Given the description of an element on the screen output the (x, y) to click on. 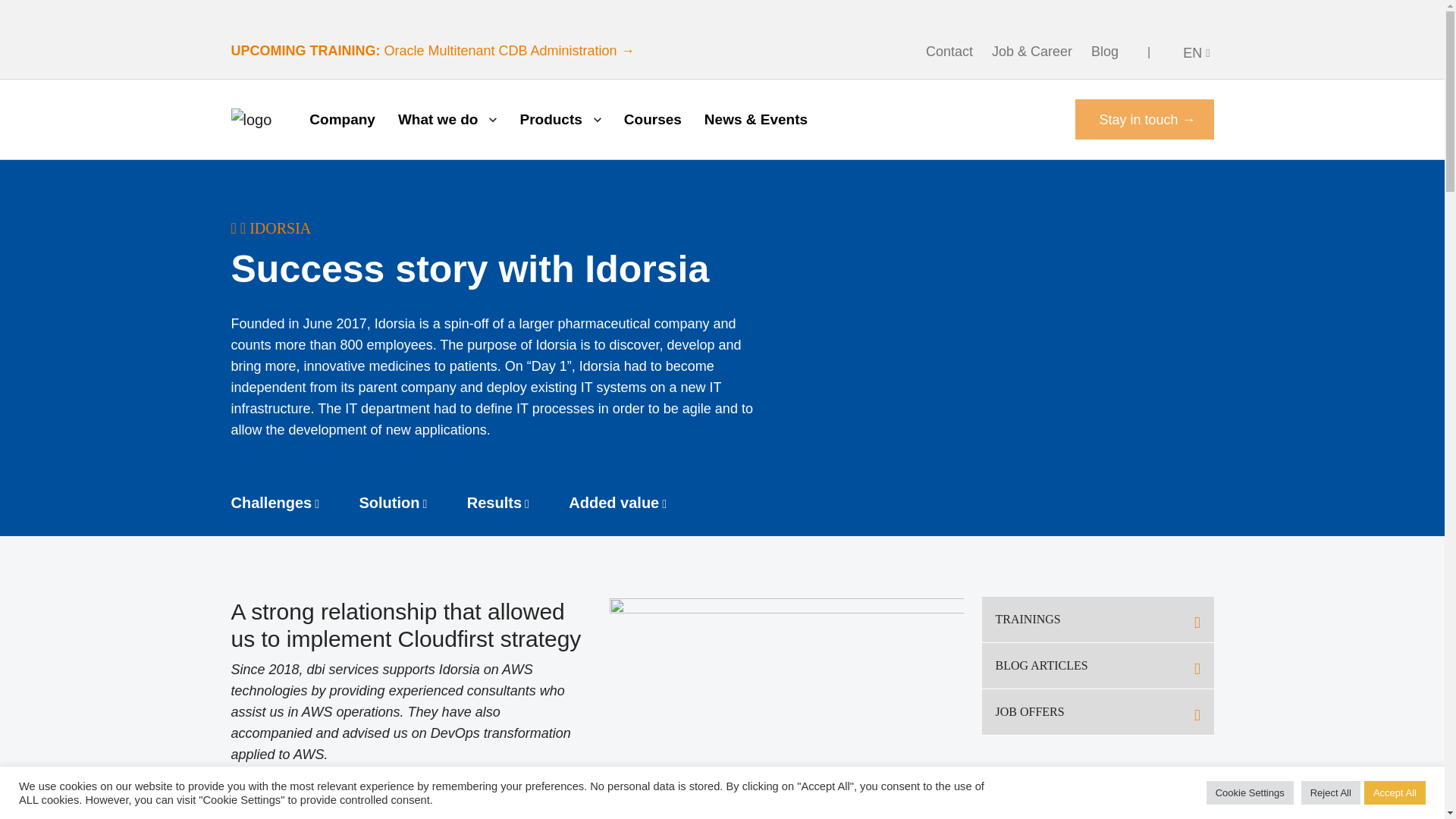
Courses (652, 119)
Stay in touch (1143, 119)
EN (1195, 52)
Products (559, 119)
Solution (411, 502)
Company (341, 119)
Blog (1104, 51)
UPCOMING TRAINING: Oracle Multitenant CDB Administration (431, 50)
Contact (949, 51)
Challenges (292, 502)
Added value (636, 502)
Results (516, 502)
What we do (447, 119)
TRAININGS (1096, 619)
